Given the description of an element on the screen output the (x, y) to click on. 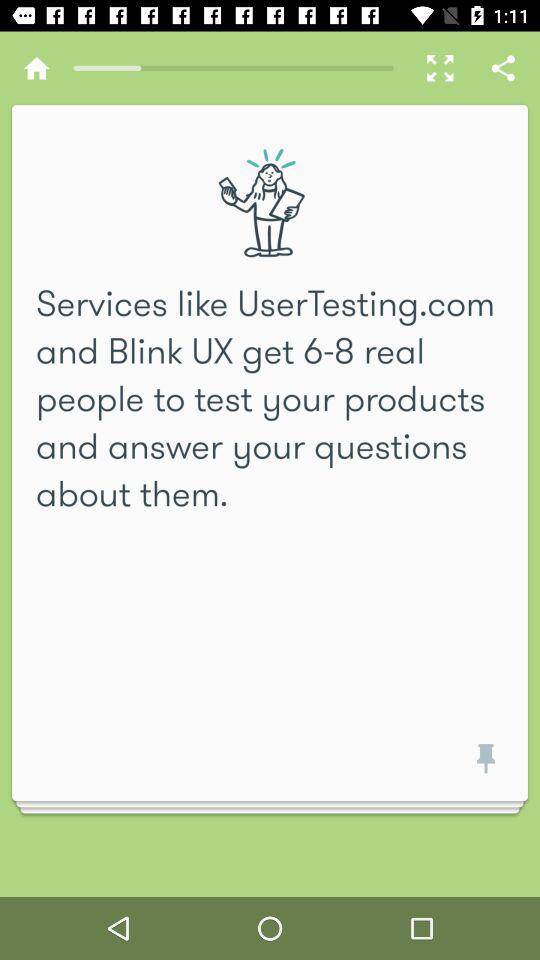
click on share icon (503, 67)
click on pin button (482, 765)
